Given the description of an element on the screen output the (x, y) to click on. 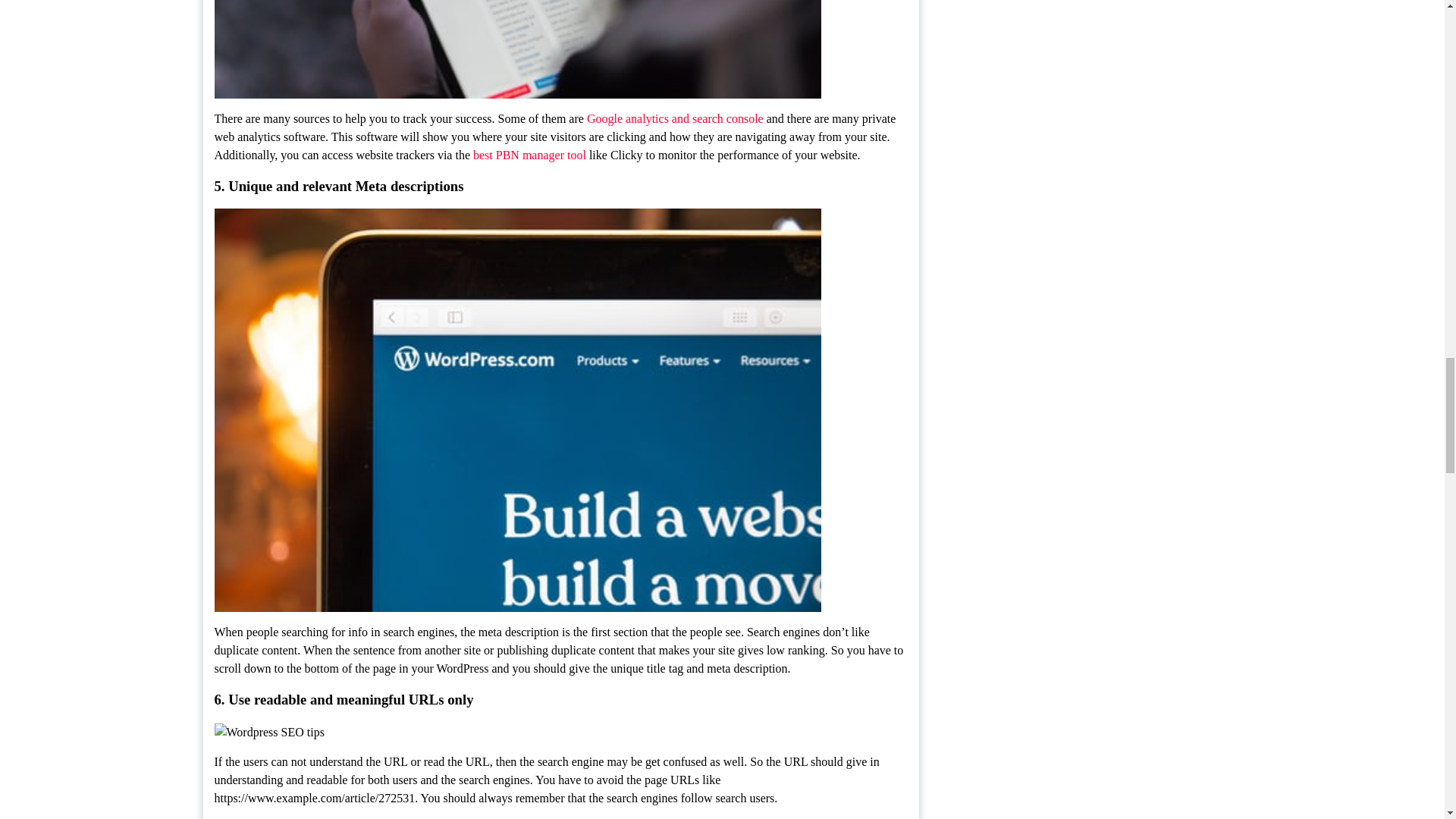
Google analytics and search console (676, 118)
best PBN manager tool (529, 154)
